Given the description of an element on the screen output the (x, y) to click on. 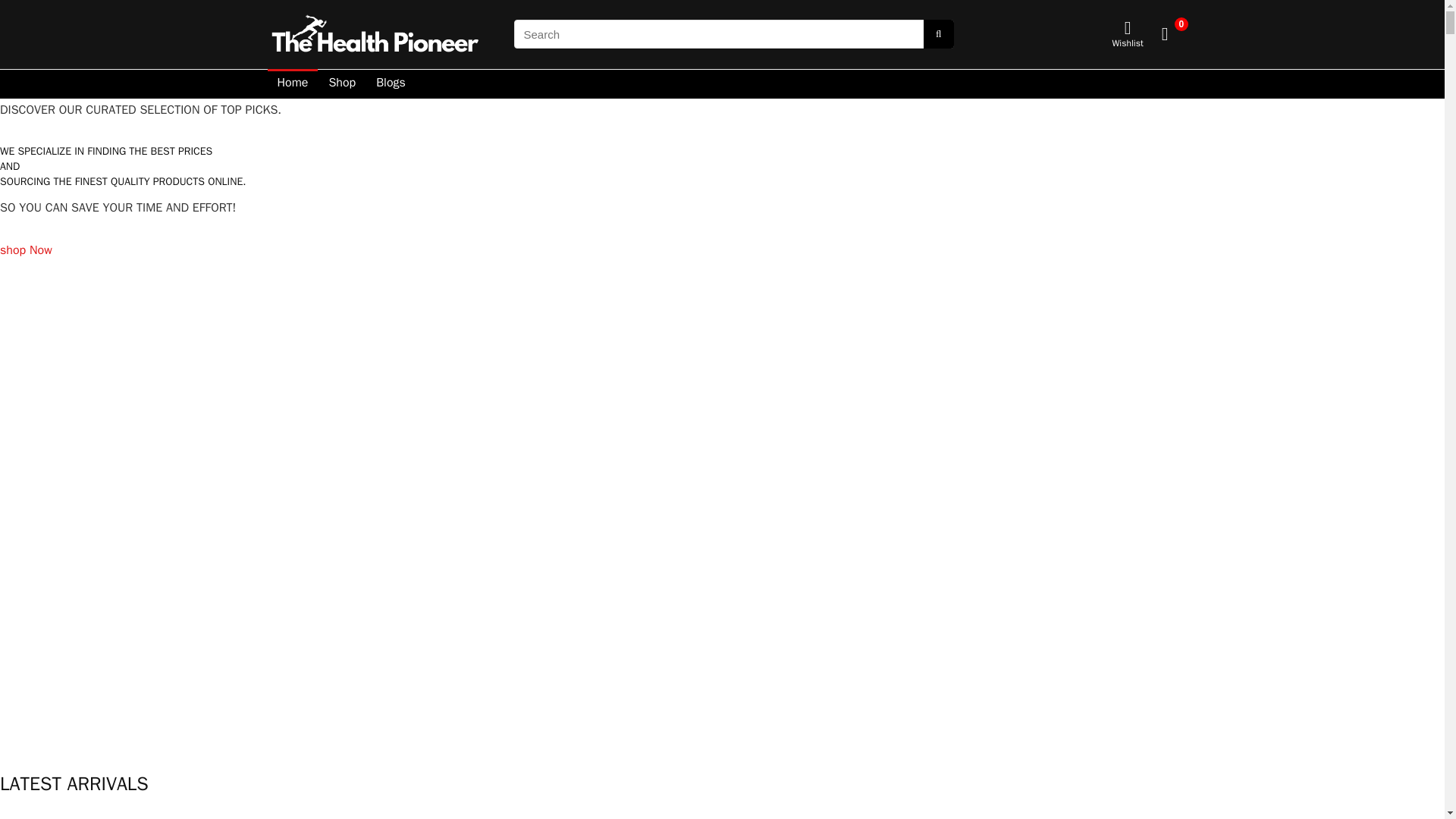
Shop (341, 83)
shop Now (26, 260)
Blogs (390, 83)
Home (291, 83)
